Given the description of an element on the screen output the (x, y) to click on. 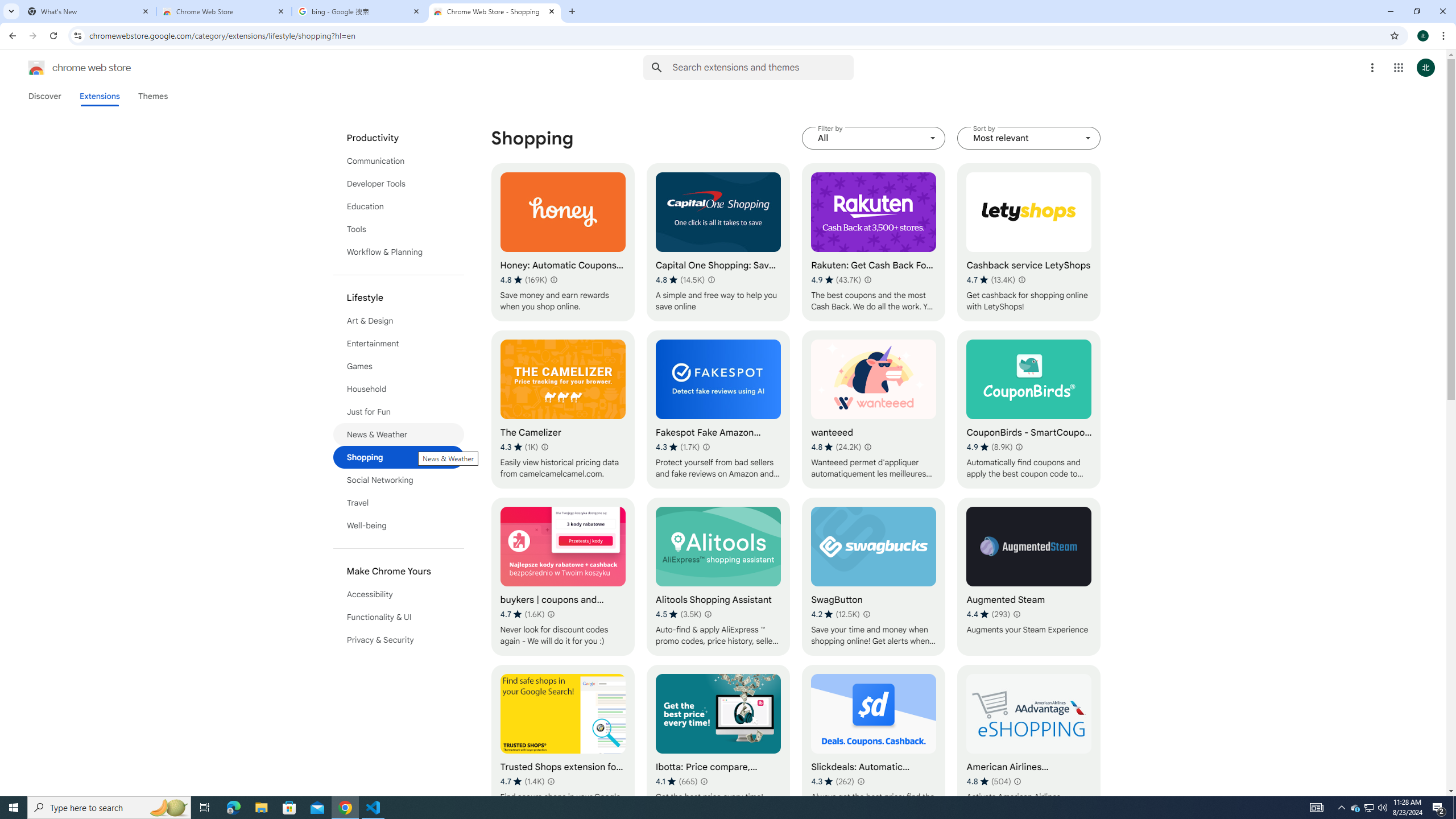
Sort by Most relevant (1028, 137)
Household (398, 388)
